Given the description of an element on the screen output the (x, y) to click on. 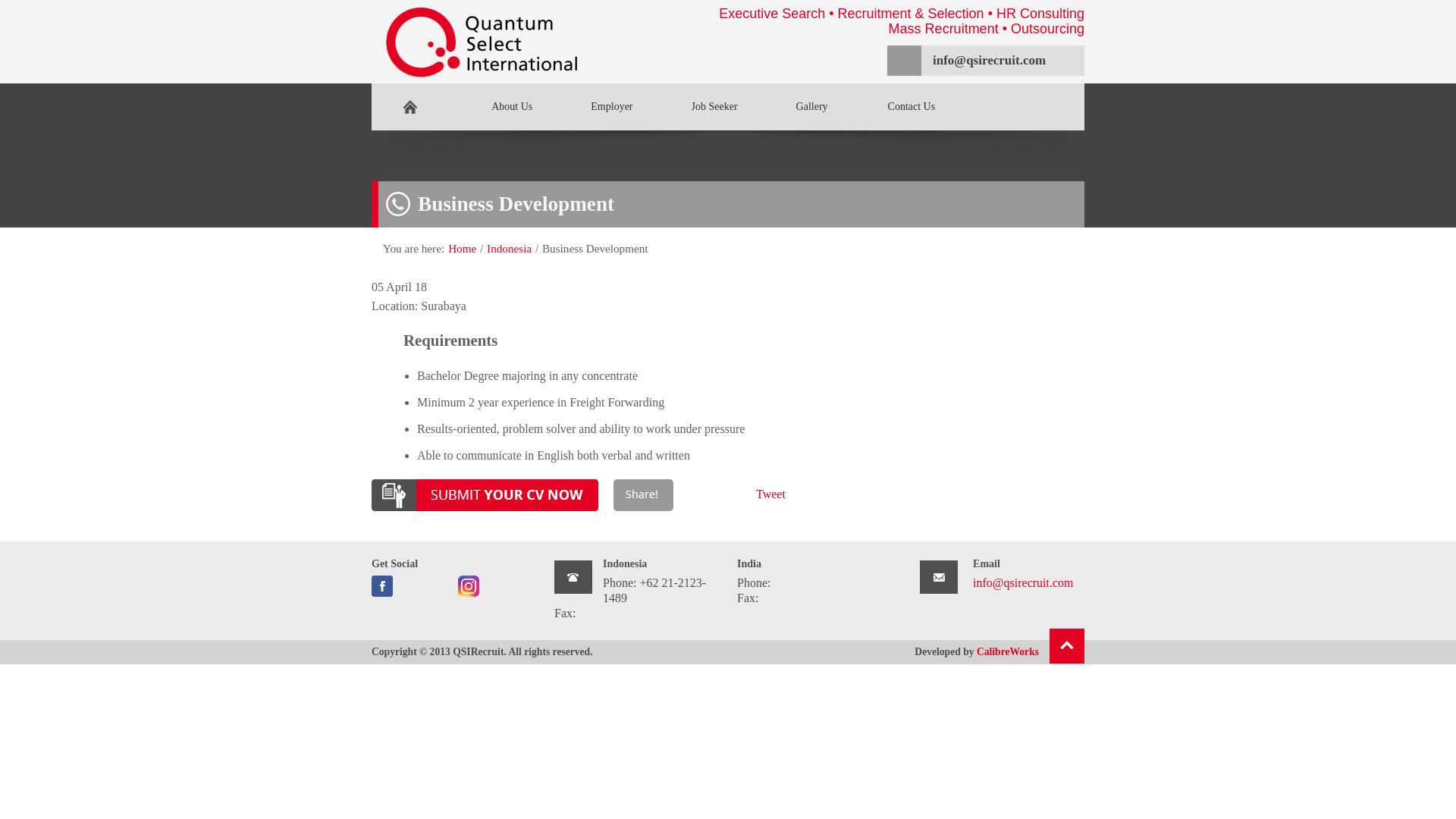
  About Us (496, 106)
Indonesia (508, 247)
  Gallery (796, 106)
Return To Top (999, 652)
  Job Seeker (1066, 645)
  Contact Us (698, 106)
CalibreWorks (899, 106)
